Given the description of an element on the screen output the (x, y) to click on. 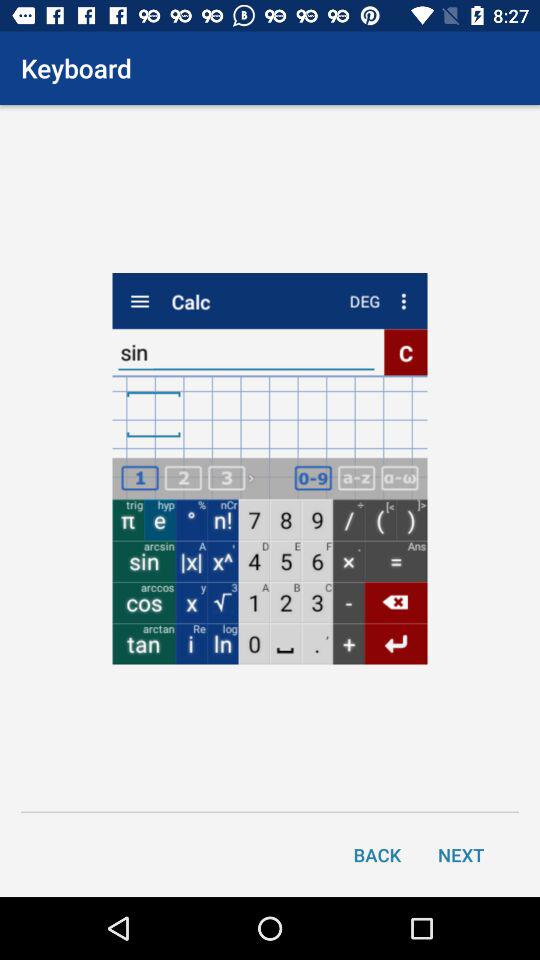
press the item to the left of next icon (377, 854)
